Given the description of an element on the screen output the (x, y) to click on. 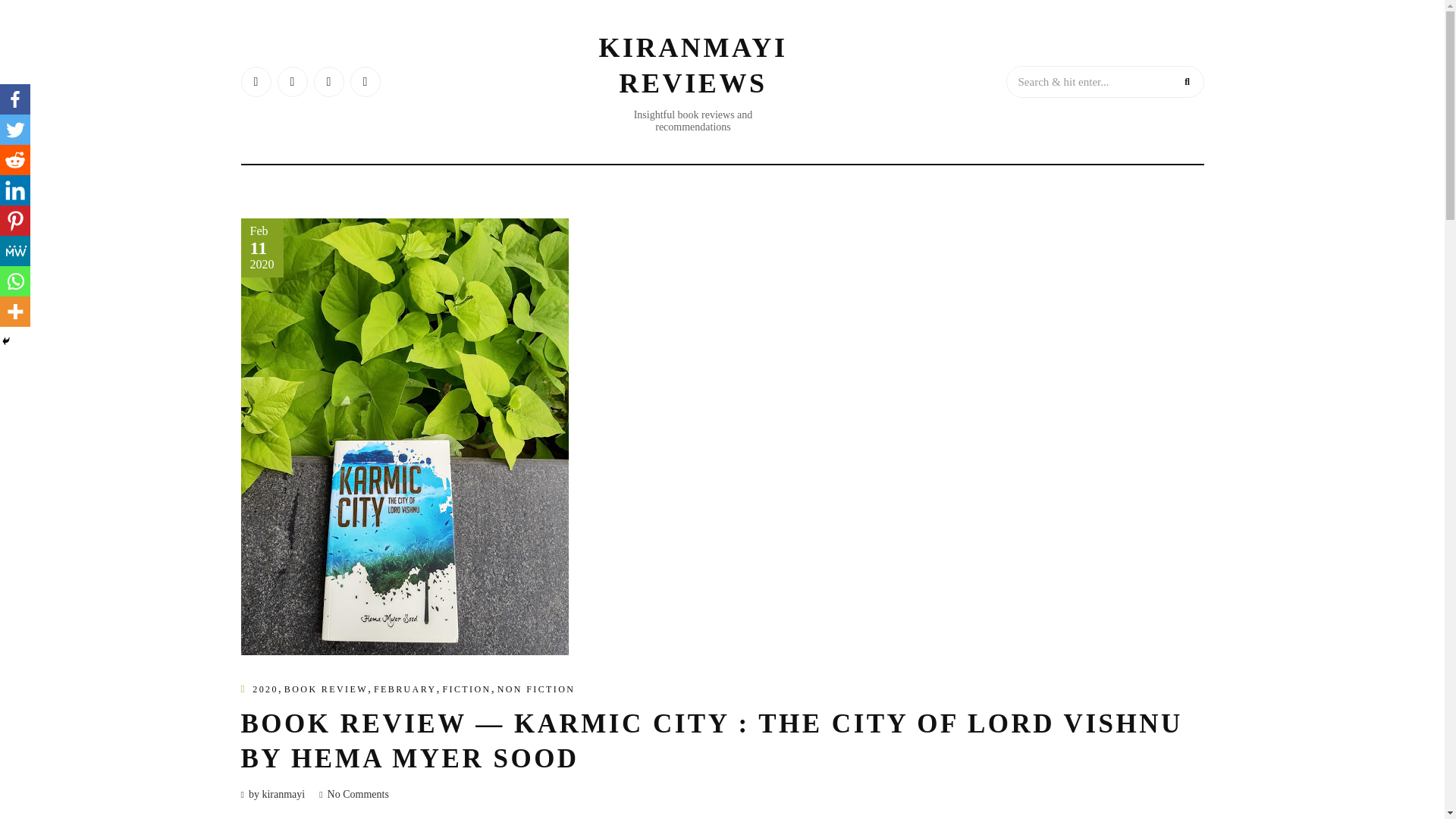
Reddit (15, 159)
Twitter (15, 129)
NON FICTION (536, 688)
More (15, 311)
Facebook (15, 99)
Hide (5, 340)
BOOK REVIEW (325, 688)
MeWe (15, 250)
FEBRUARY (405, 688)
KIRANMAYI REVIEWS (692, 65)
